Given the description of an element on the screen output the (x, y) to click on. 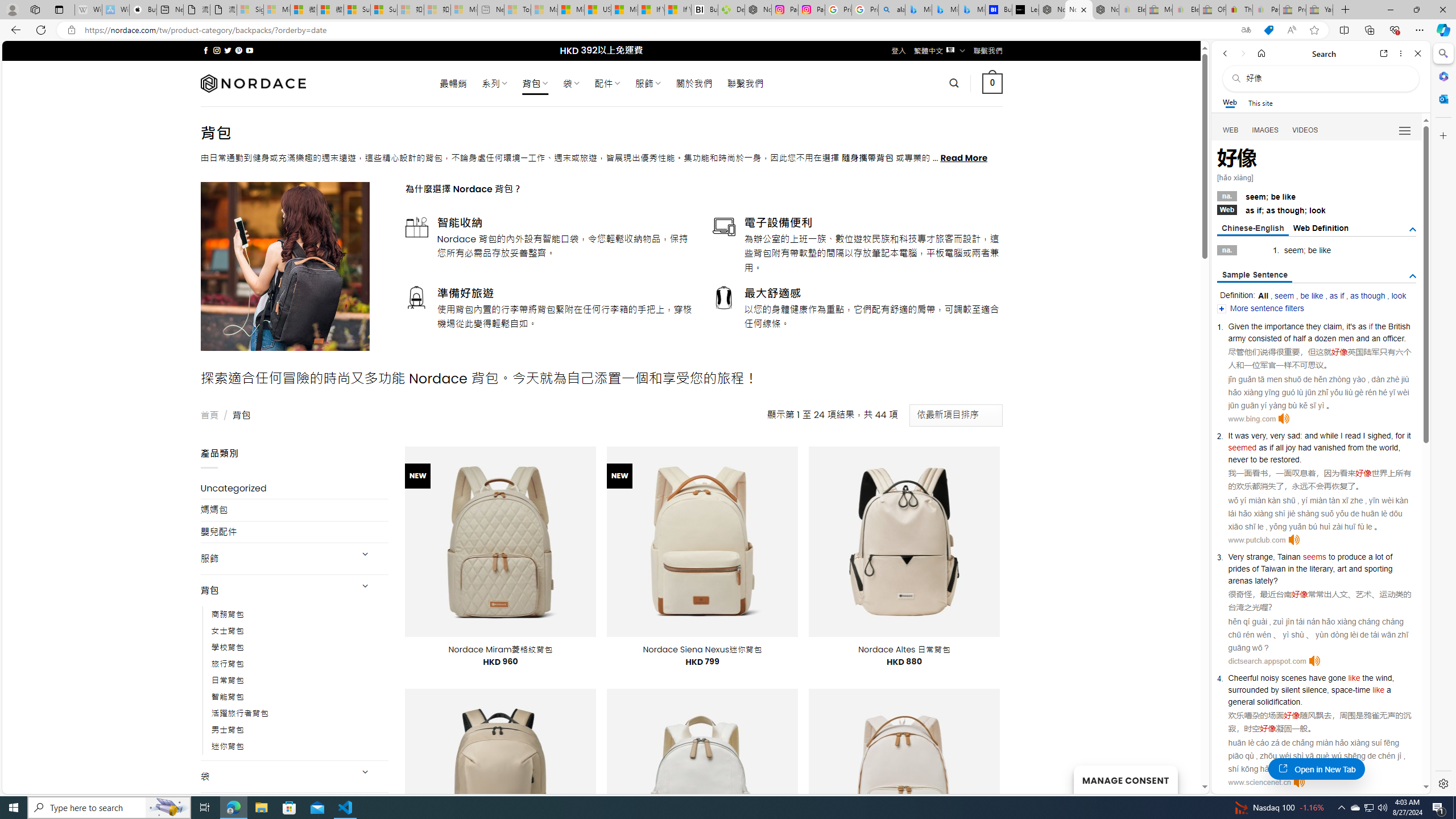
surrounded (1247, 689)
vanished (1329, 447)
art (1341, 568)
